Given the description of an element on the screen output the (x, y) to click on. 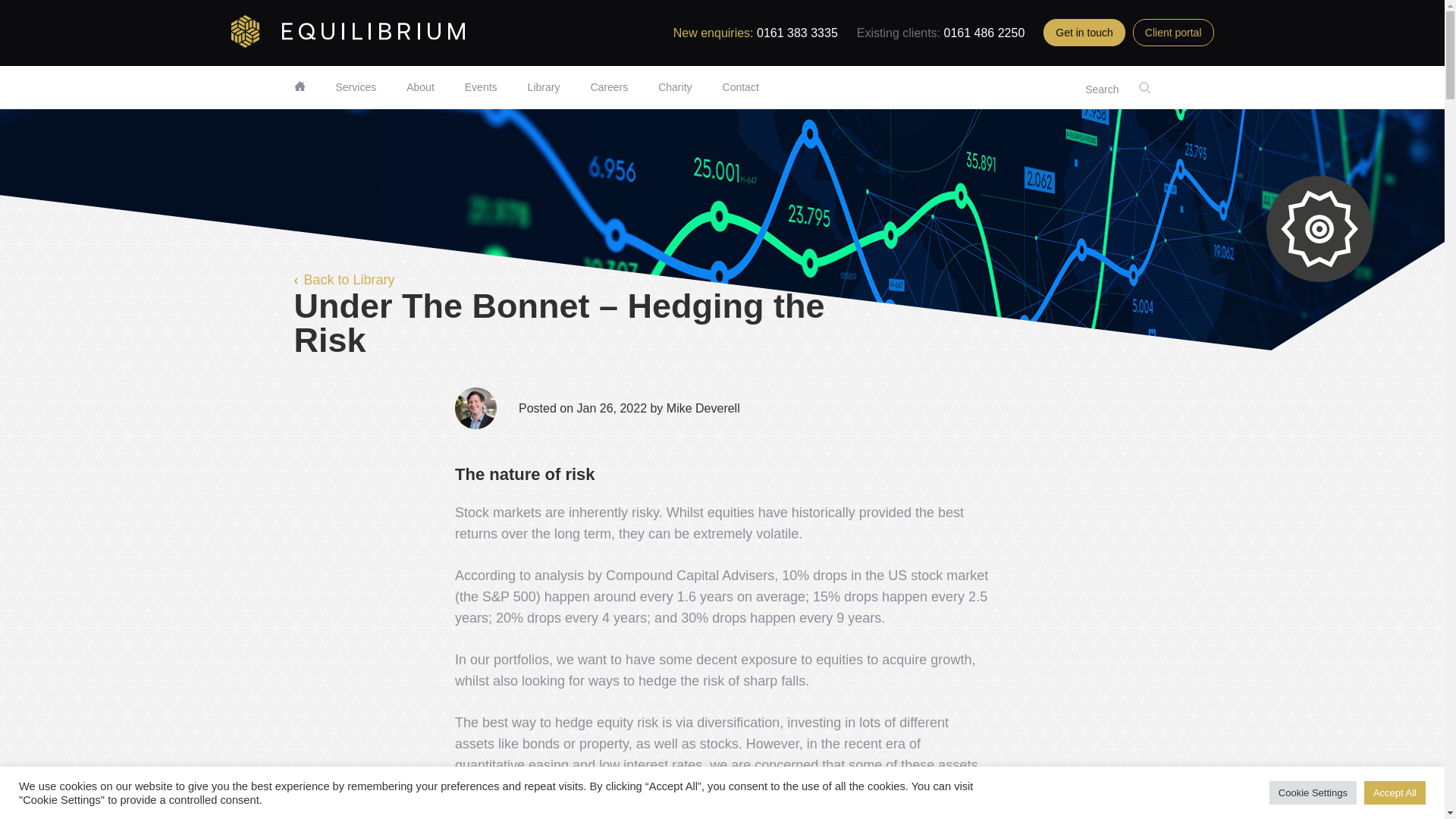
Client portal (1173, 31)
Events (480, 87)
0161 383 3335 (526, 94)
Library (797, 32)
Careers (543, 87)
Submit (608, 87)
About (940, 577)
Charity (419, 87)
Services (674, 87)
Contact (354, 87)
Back to Library (740, 87)
0161 486 2250 (344, 280)
Get in touch (984, 32)
